Given the description of an element on the screen output the (x, y) to click on. 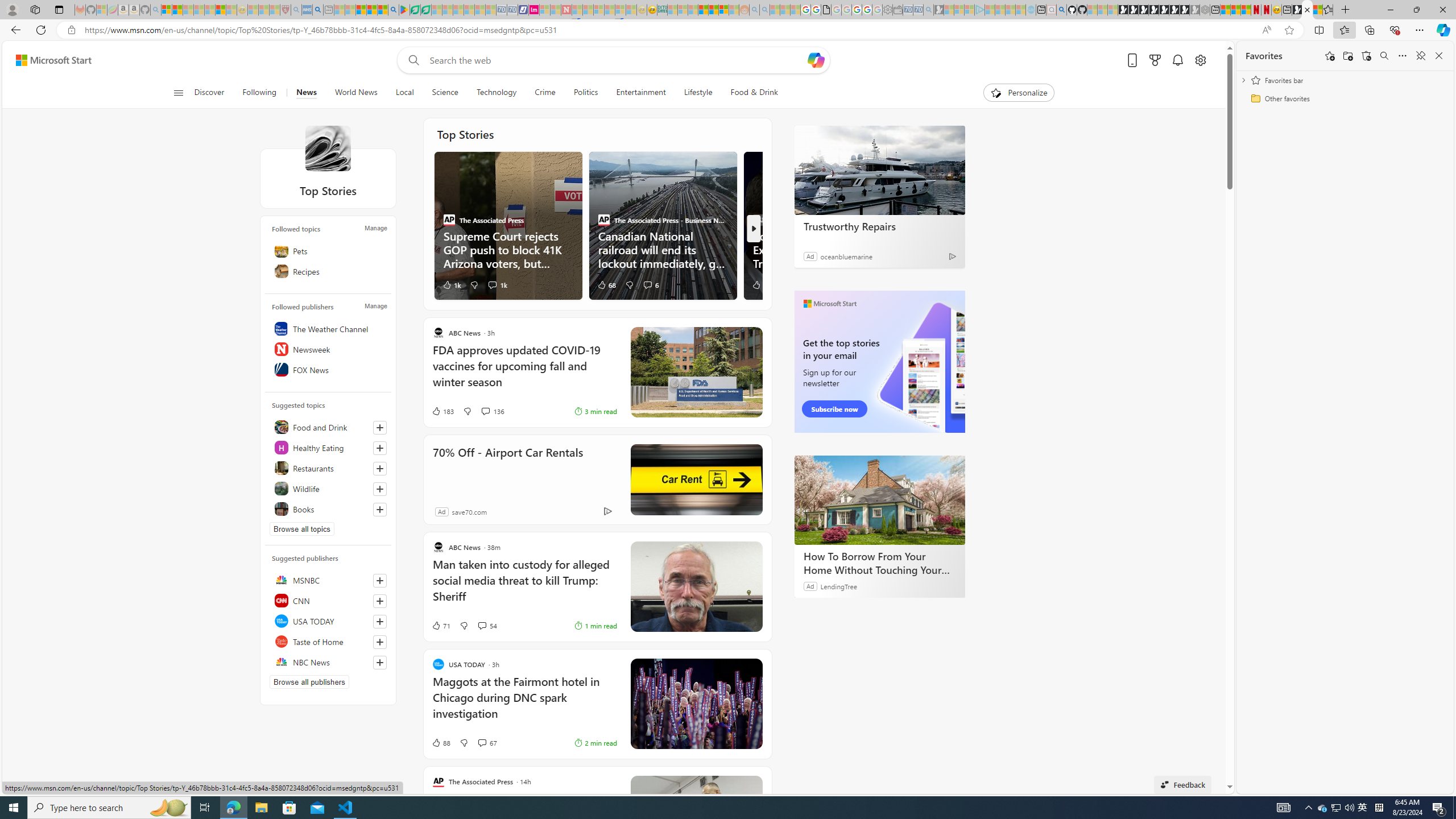
70% Off - Airport Car RentalsAdsave70.com (596, 479)
View comments 54 Comment (481, 624)
View comments 1k Comment (491, 284)
